Given the description of an element on the screen output the (x, y) to click on. 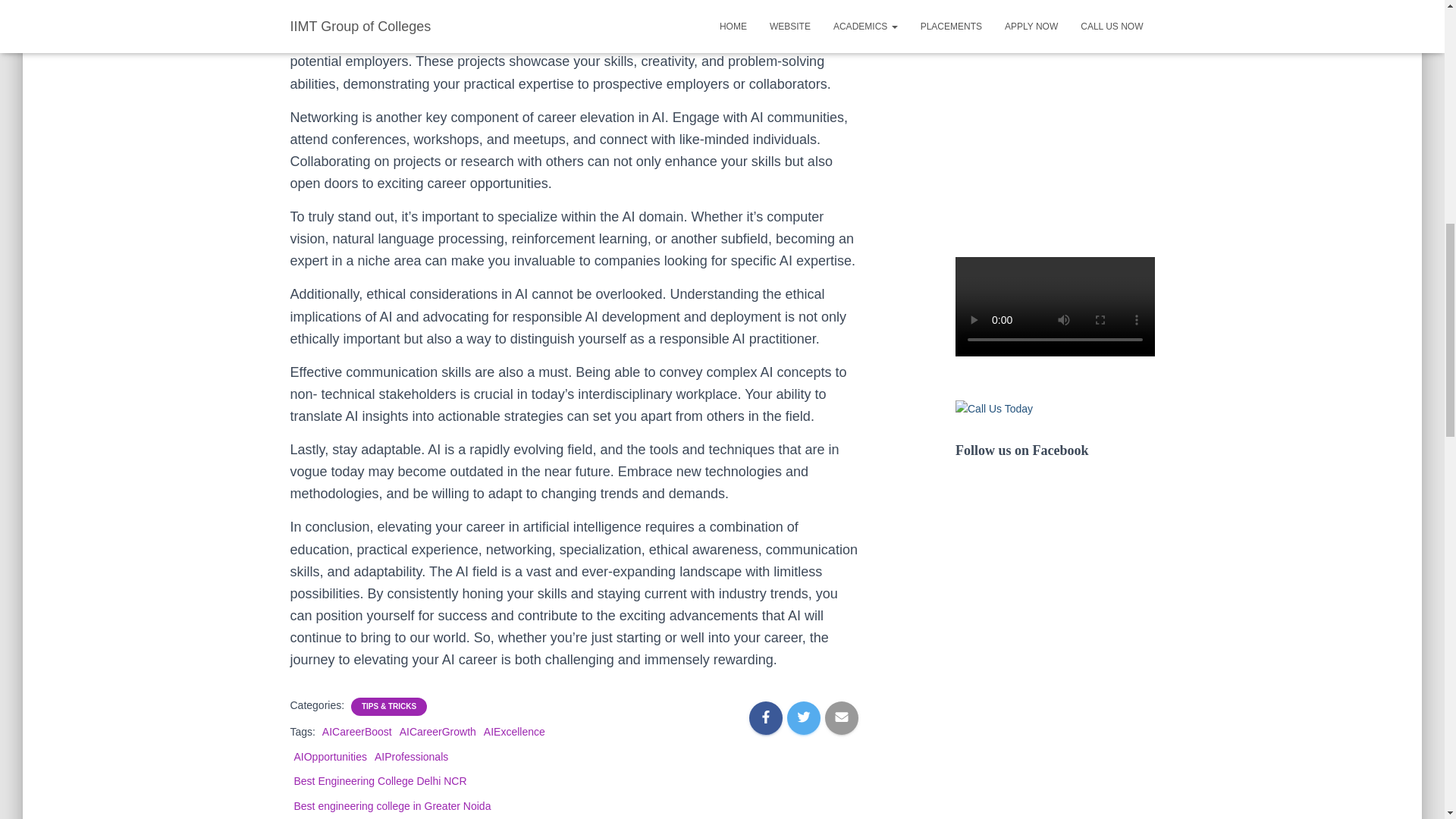
AIExcellence (513, 731)
AICareerGrowth (437, 731)
AIOpportunities (331, 756)
AIProfessionals (411, 756)
Best Engineering College Delhi NCR (380, 780)
AICareerBoost (356, 731)
Best engineering college in Greater Noida (393, 806)
